Given the description of an element on the screen output the (x, y) to click on. 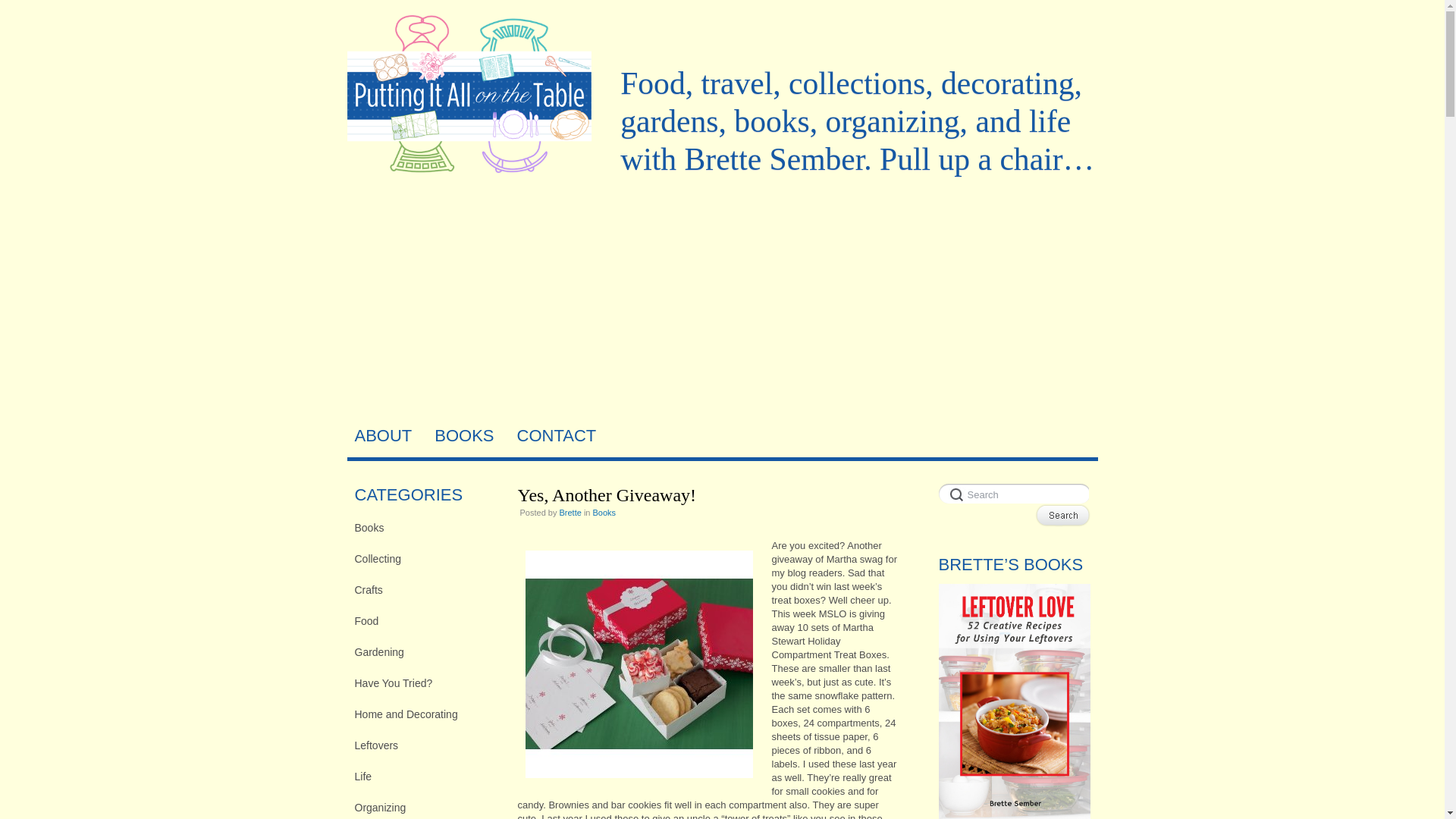
Search (1014, 495)
View all posts by Brette (569, 511)
Gardening (425, 651)
Brette (569, 511)
treat boxes compartment (638, 663)
Collecting (425, 558)
Crafts (425, 589)
Search (1061, 515)
Home and Decorating (425, 713)
Life (425, 776)
